Given the description of an element on the screen output the (x, y) to click on. 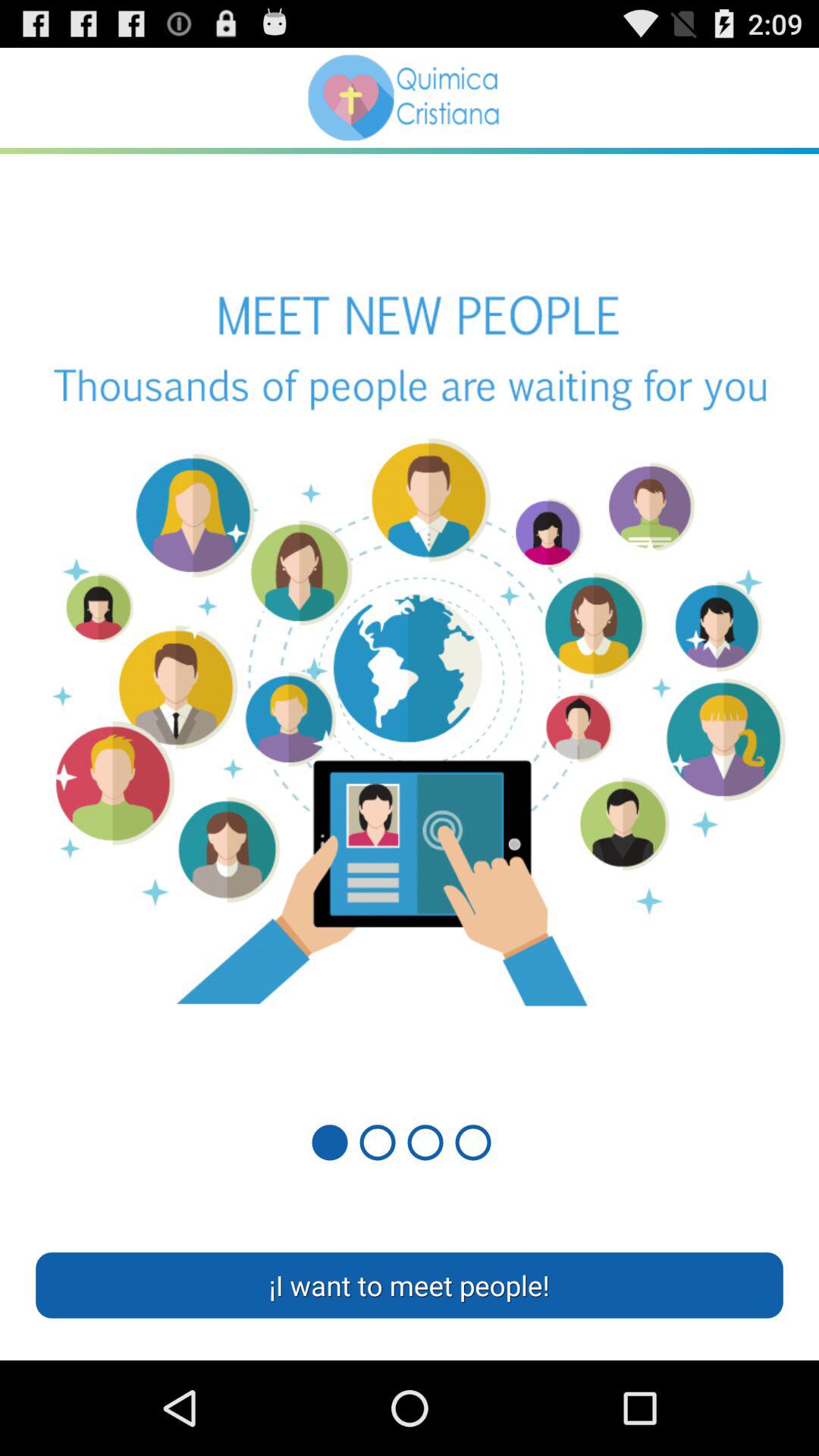
turn off i want to icon (409, 1285)
